Given the description of an element on the screen output the (x, y) to click on. 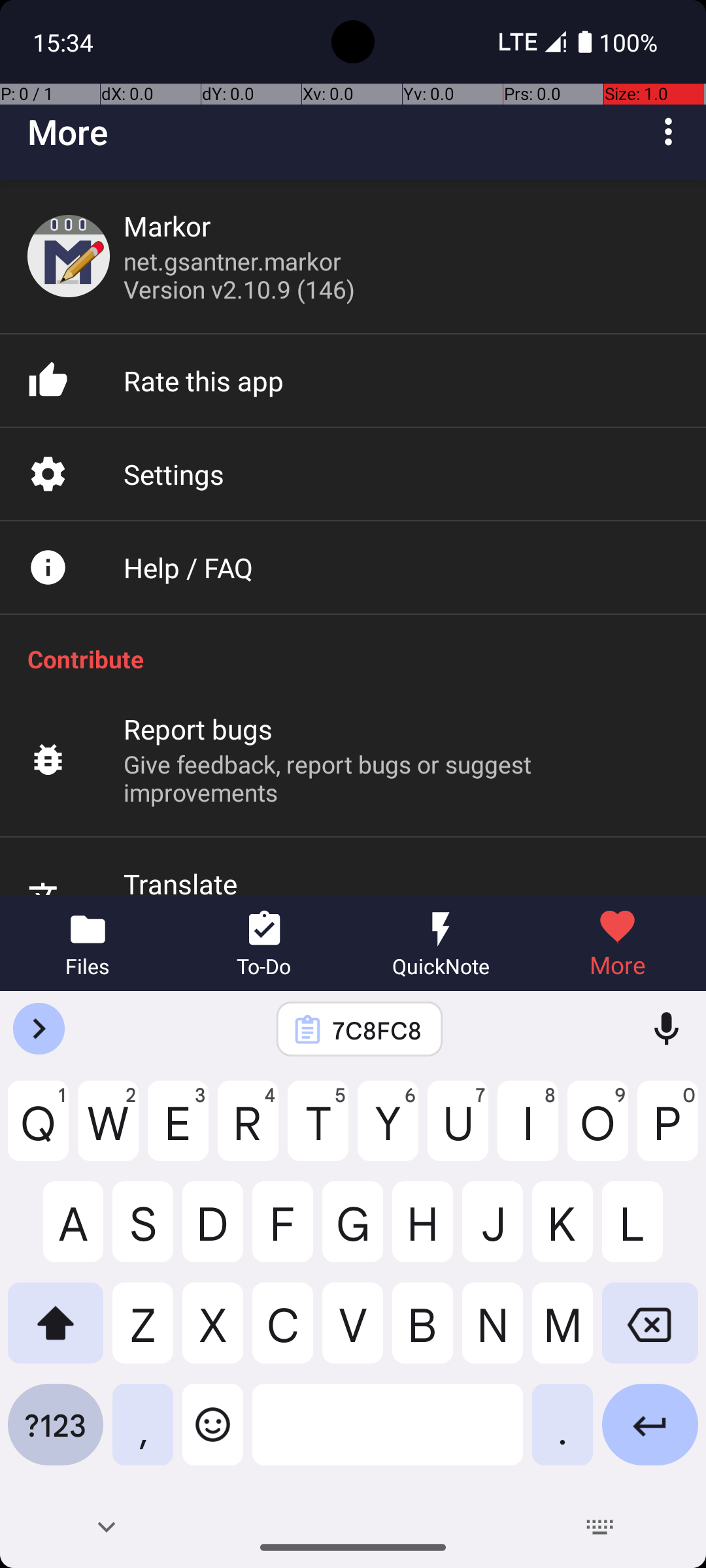
7C8FC8 Element type: android.widget.TextView (376, 1029)
